Given the description of an element on the screen output the (x, y) to click on. 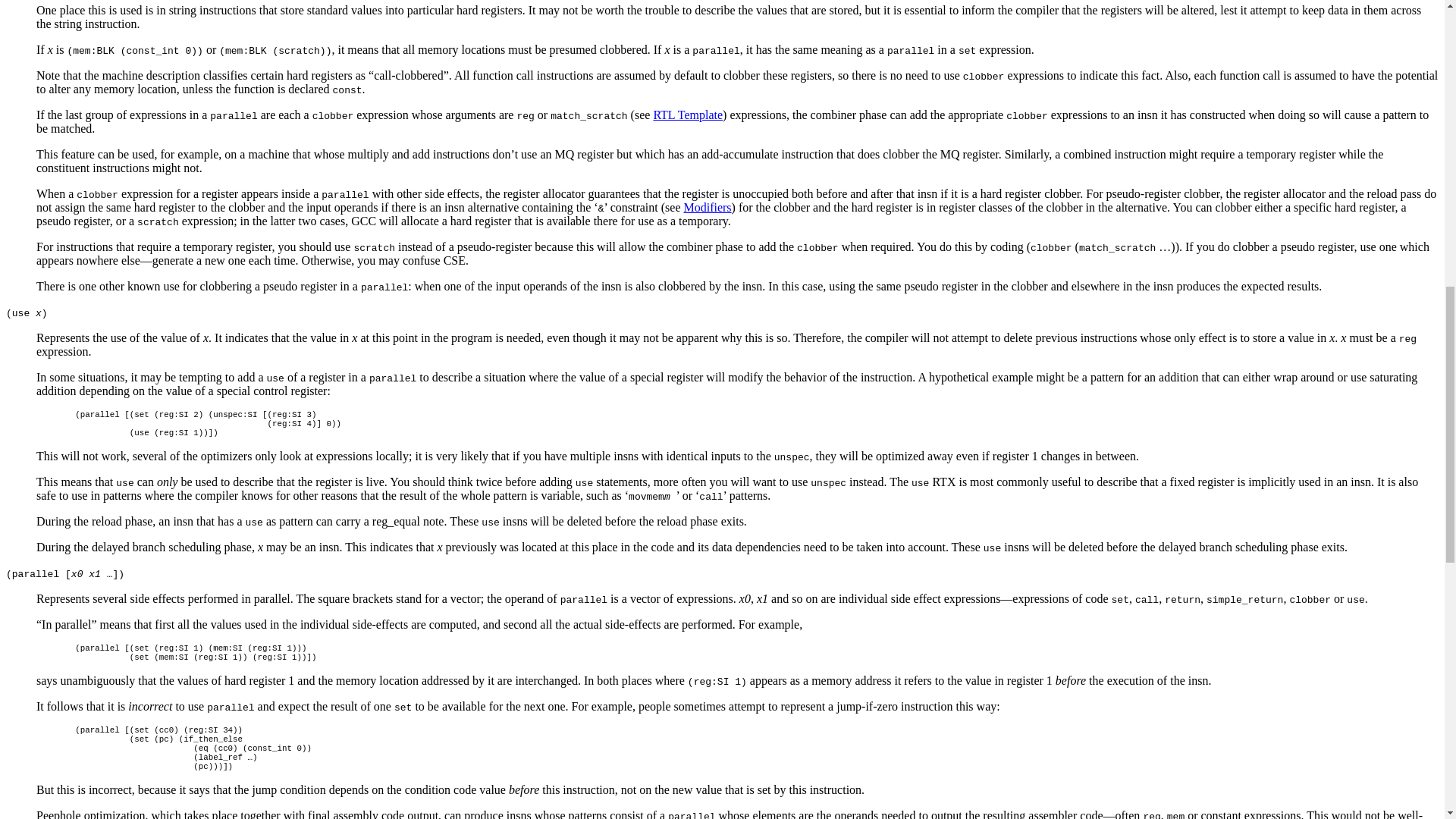
RTL Template (687, 114)
Modifiers (706, 206)
